Given the description of an element on the screen output the (x, y) to click on. 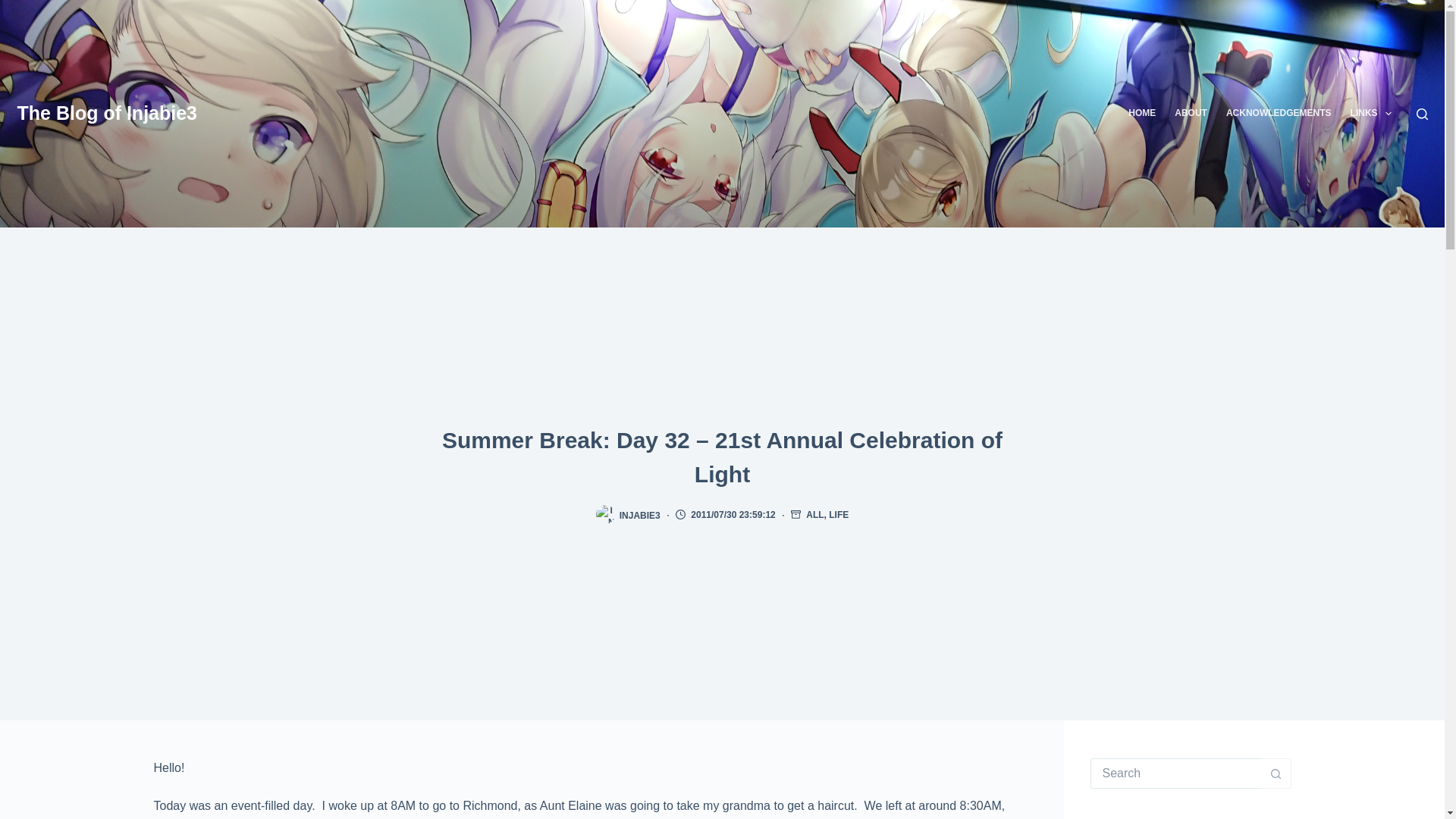
Search for... (1175, 773)
INJABIE3 (640, 514)
Posts by Injabie3 (640, 514)
The Blog of Injabie3 (106, 112)
Skip to content (15, 7)
ALL (815, 514)
LIFE (838, 514)
